Given the description of an element on the screen output the (x, y) to click on. 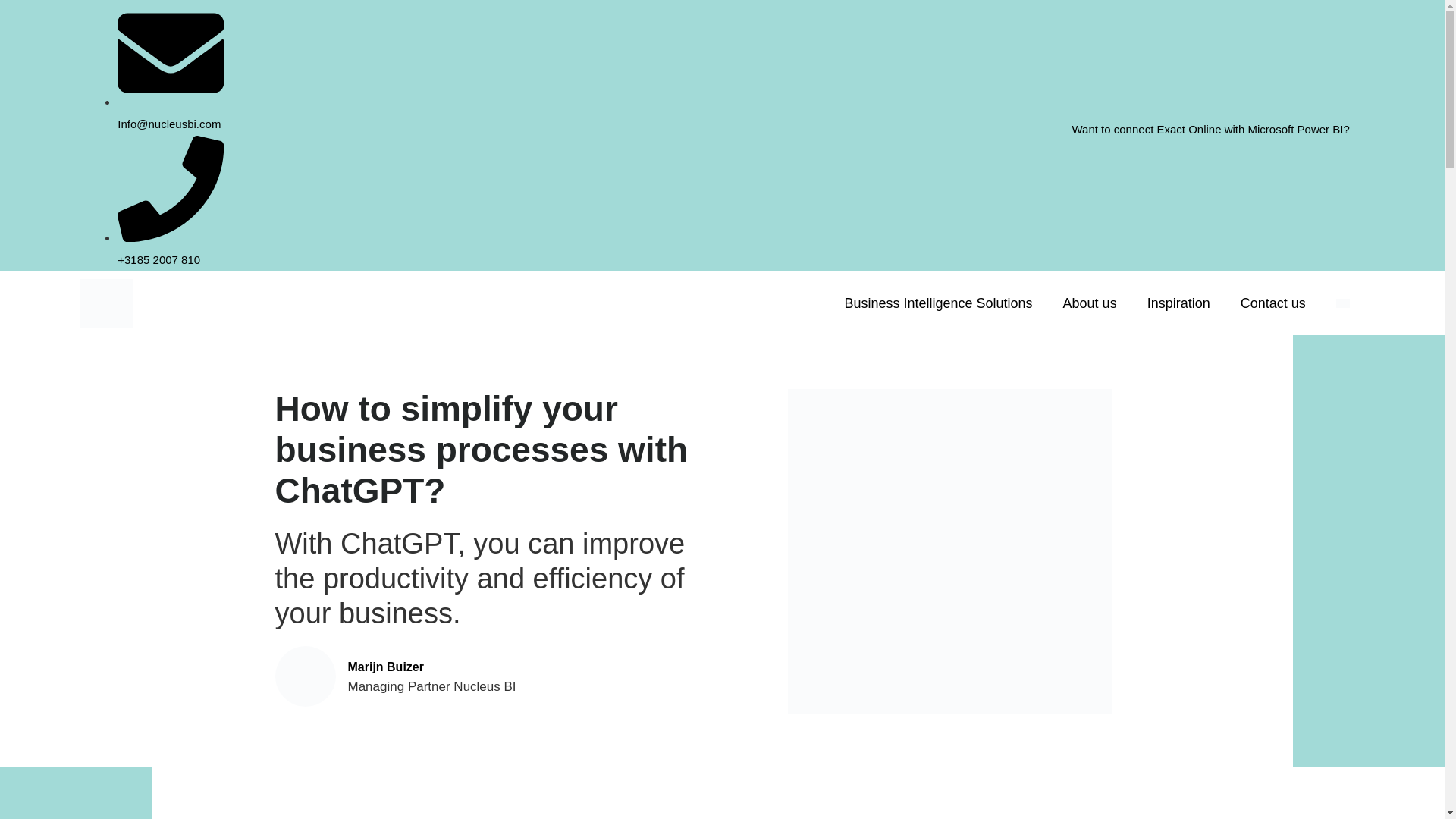
Want to connect Exact Online with Microsoft Power BI? (1210, 128)
About us (1090, 303)
Contact us (1272, 303)
Business Intelligence Solutions (937, 303)
Inspiration (1178, 303)
